Given the description of an element on the screen output the (x, y) to click on. 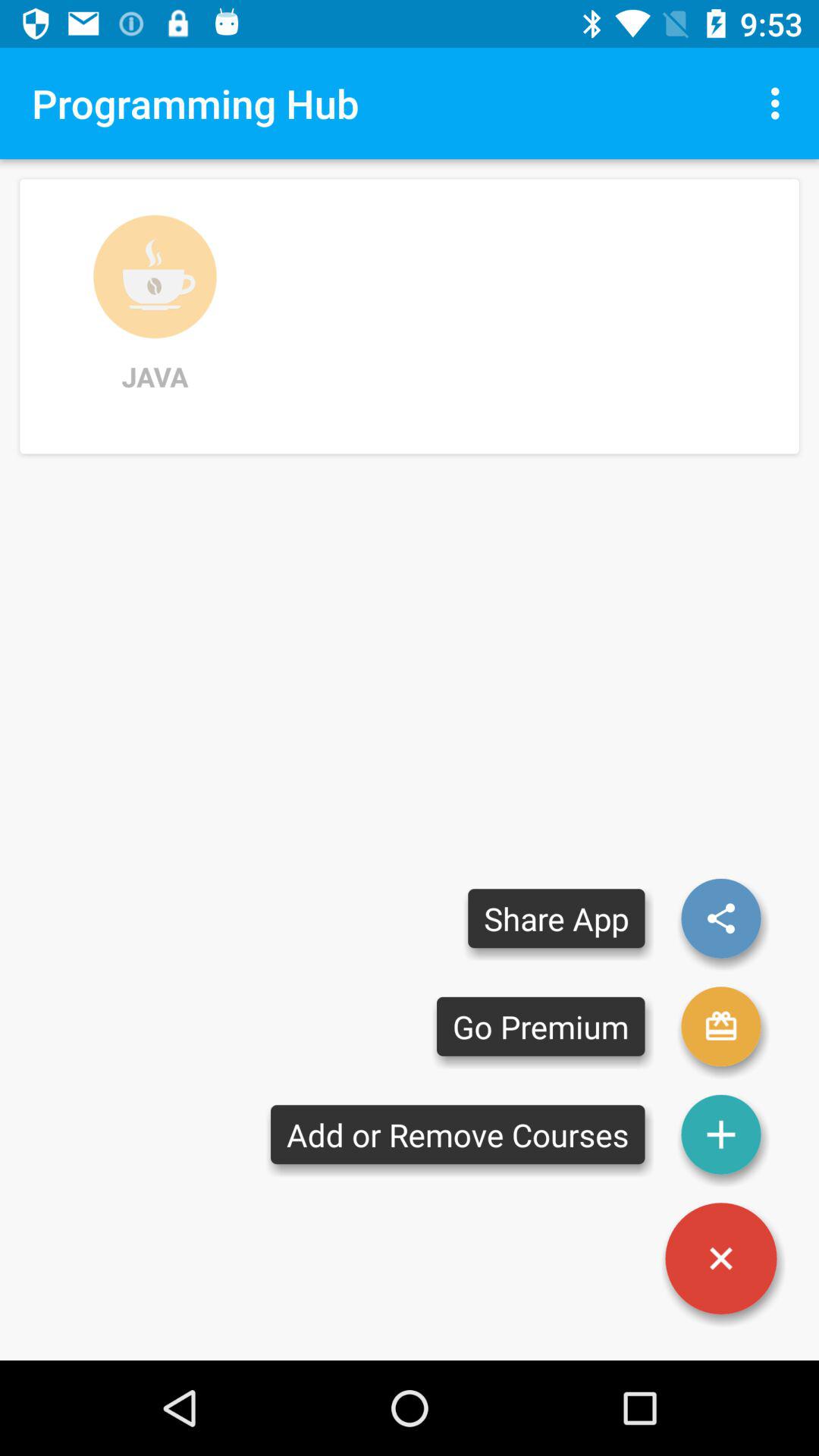
close the app (721, 1258)
